Given the description of an element on the screen output the (x, y) to click on. 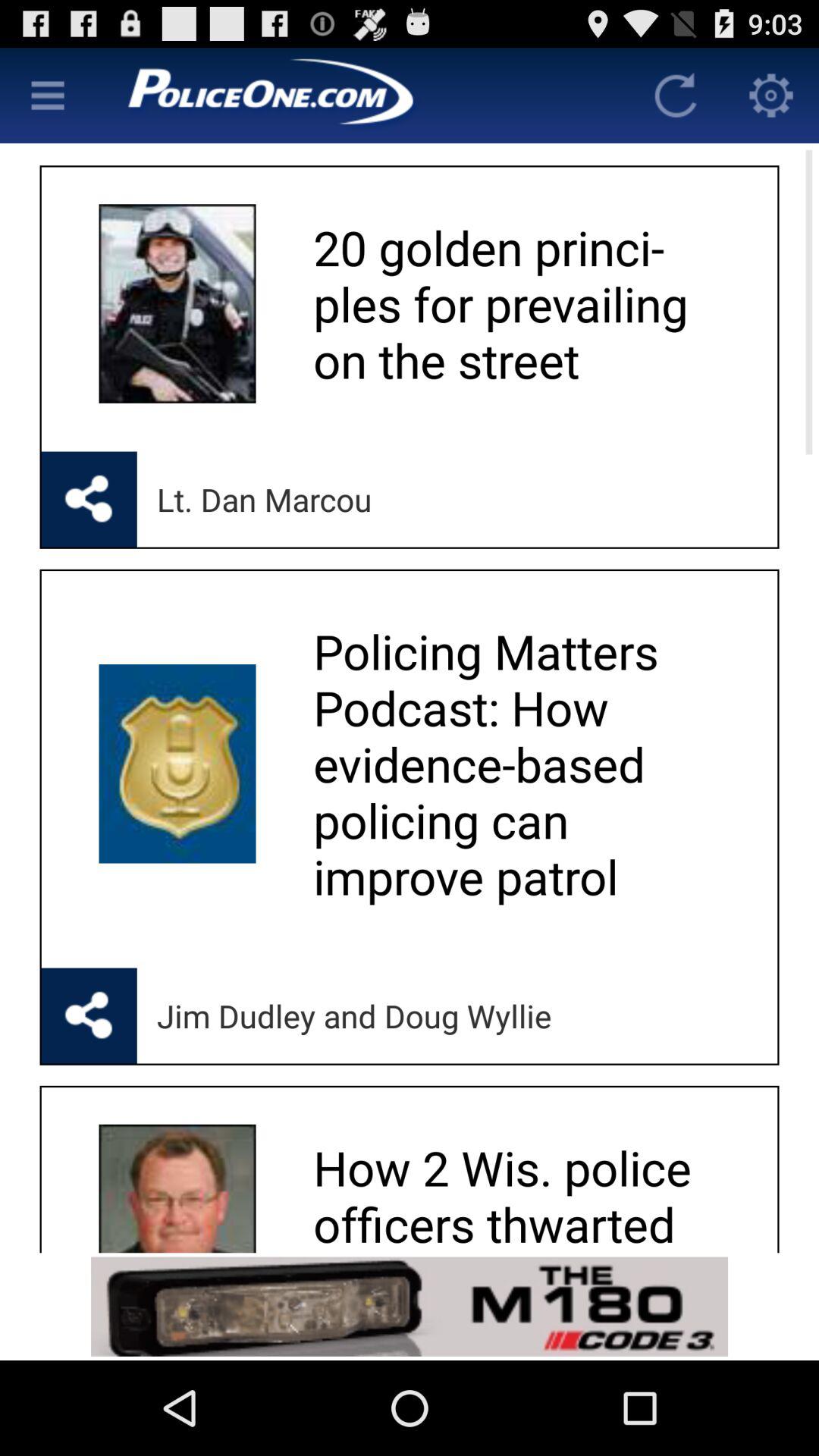
share the article (89, 499)
